Given the description of an element on the screen output the (x, y) to click on. 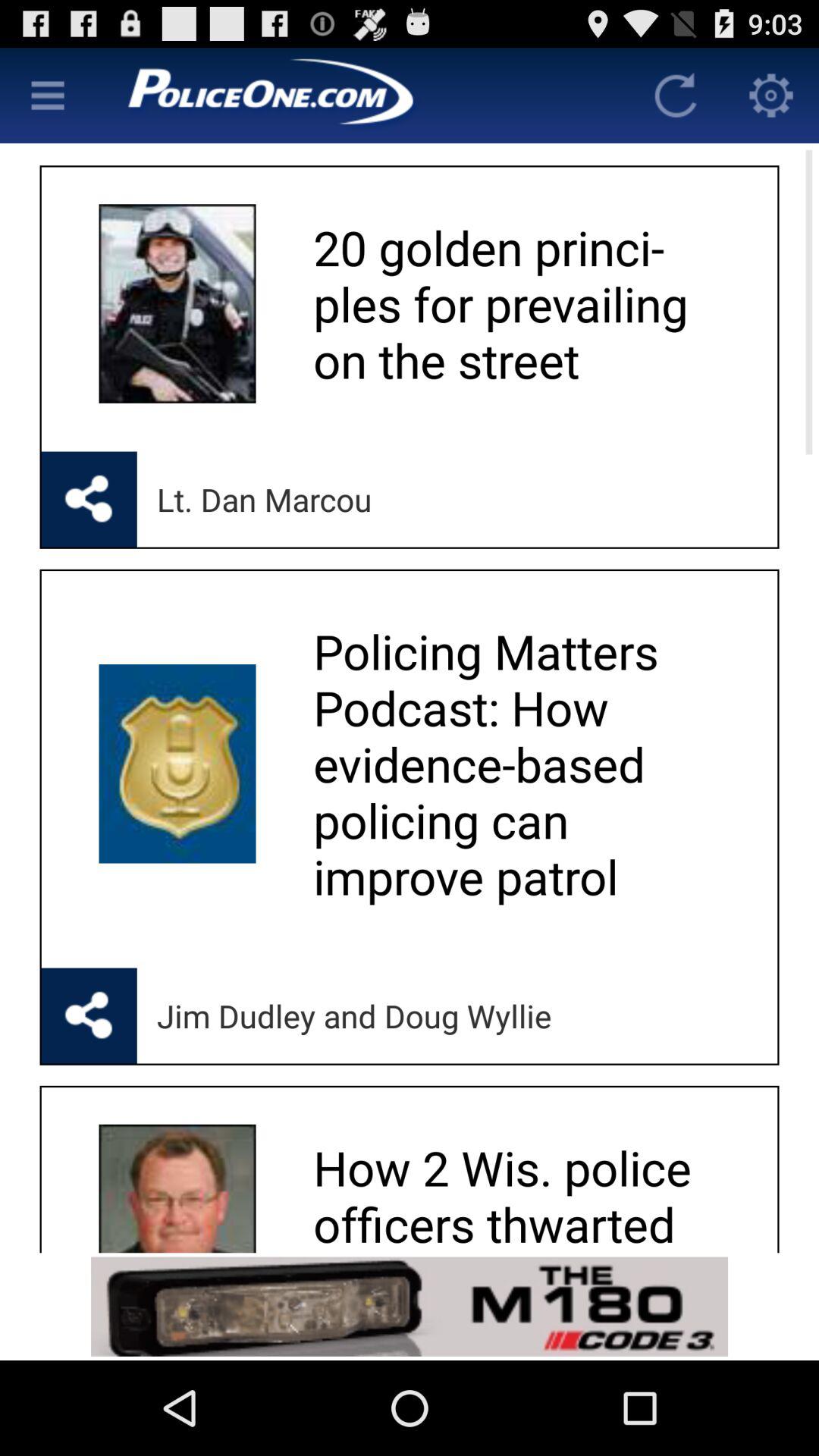
share the article (89, 499)
